Given the description of an element on the screen output the (x, y) to click on. 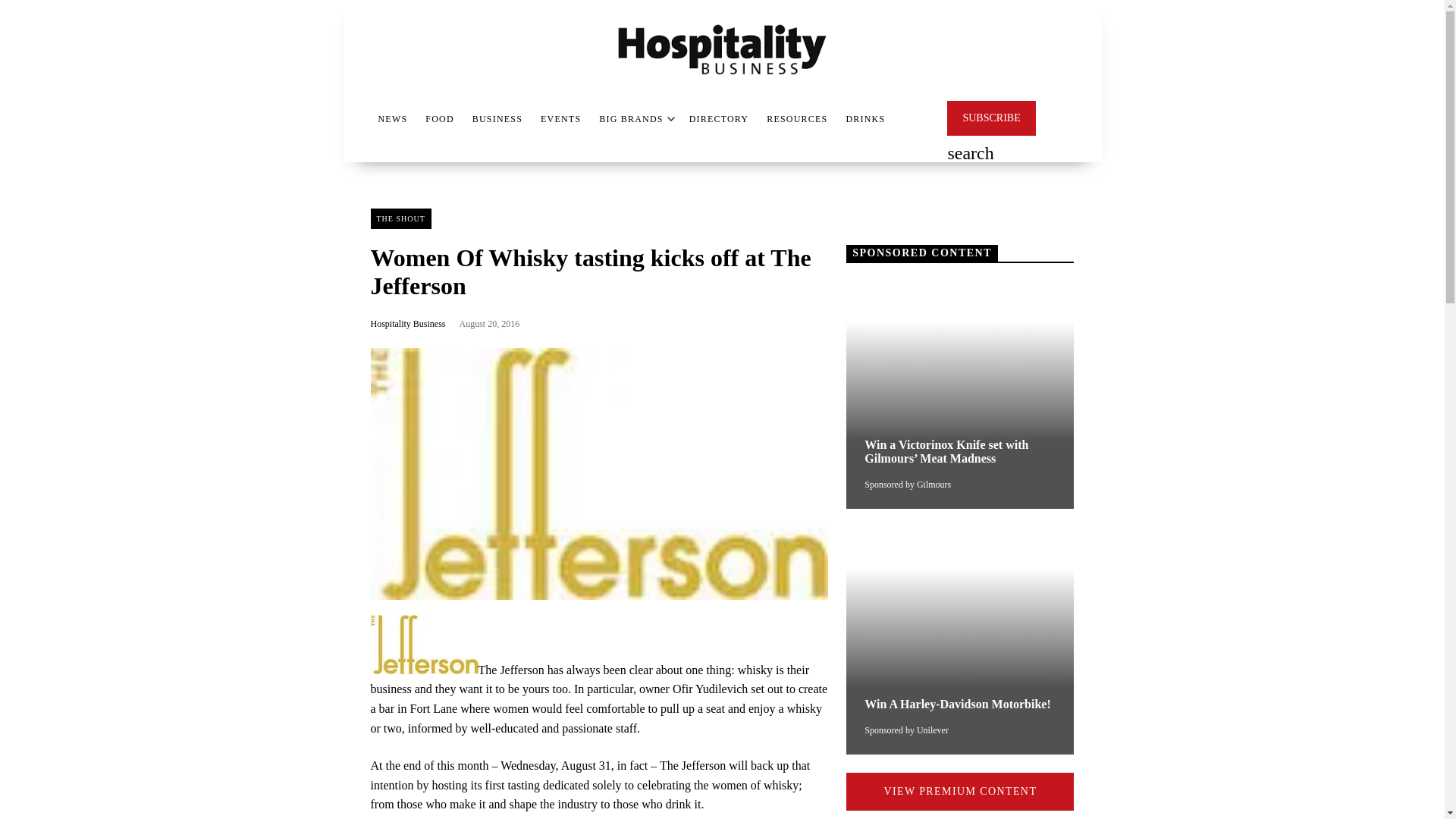
EVENTS (560, 118)
THE SHOUT (399, 218)
BUSINESS (496, 118)
SUBSCRIBE (991, 117)
DRINKS (865, 118)
RESOURCES (797, 118)
DIRECTORY (718, 118)
search (969, 154)
BIG BRANDS (630, 118)
